Given the description of an element on the screen output the (x, y) to click on. 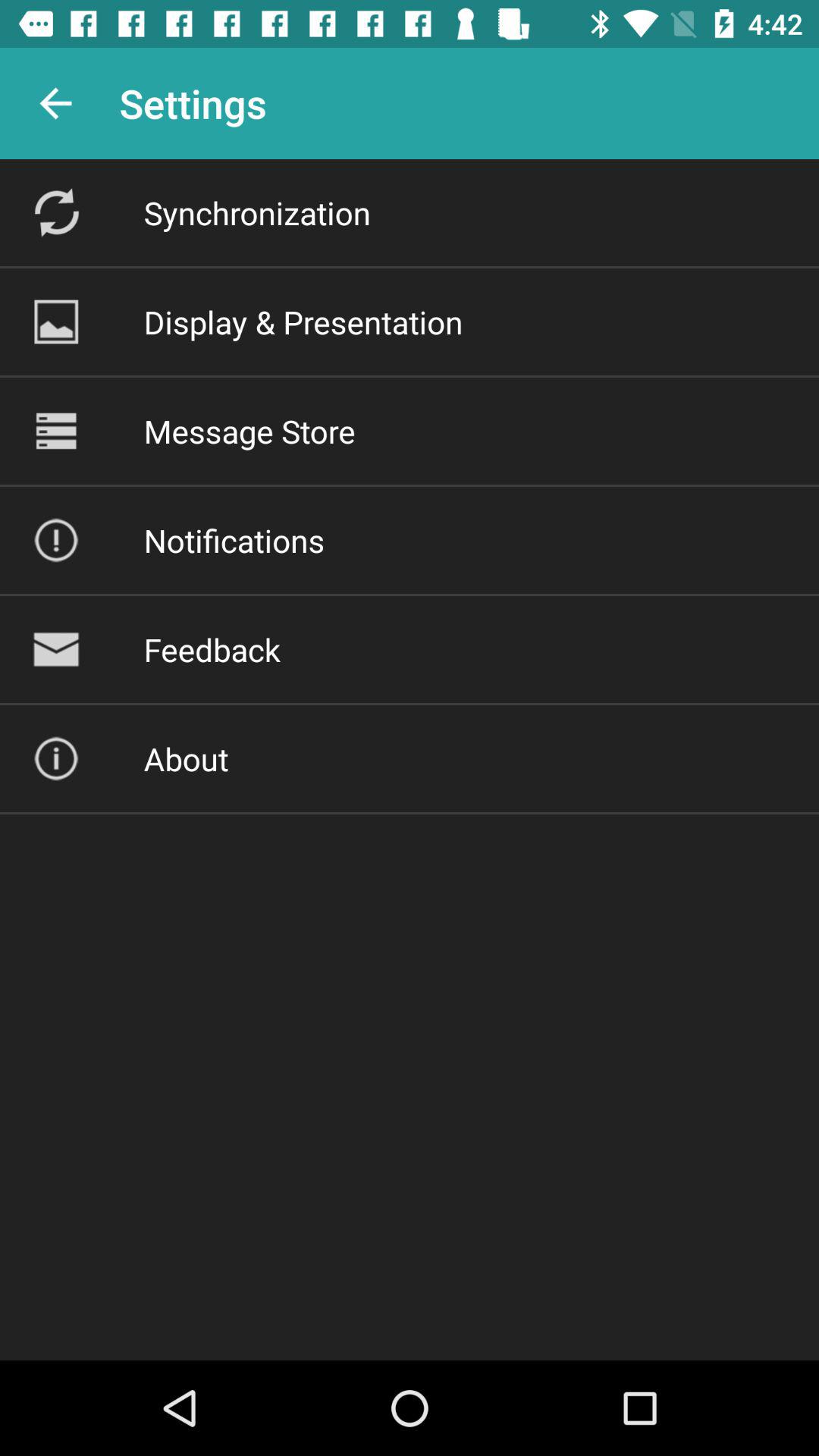
launch the item above notifications icon (249, 430)
